Given the description of an element on the screen output the (x, y) to click on. 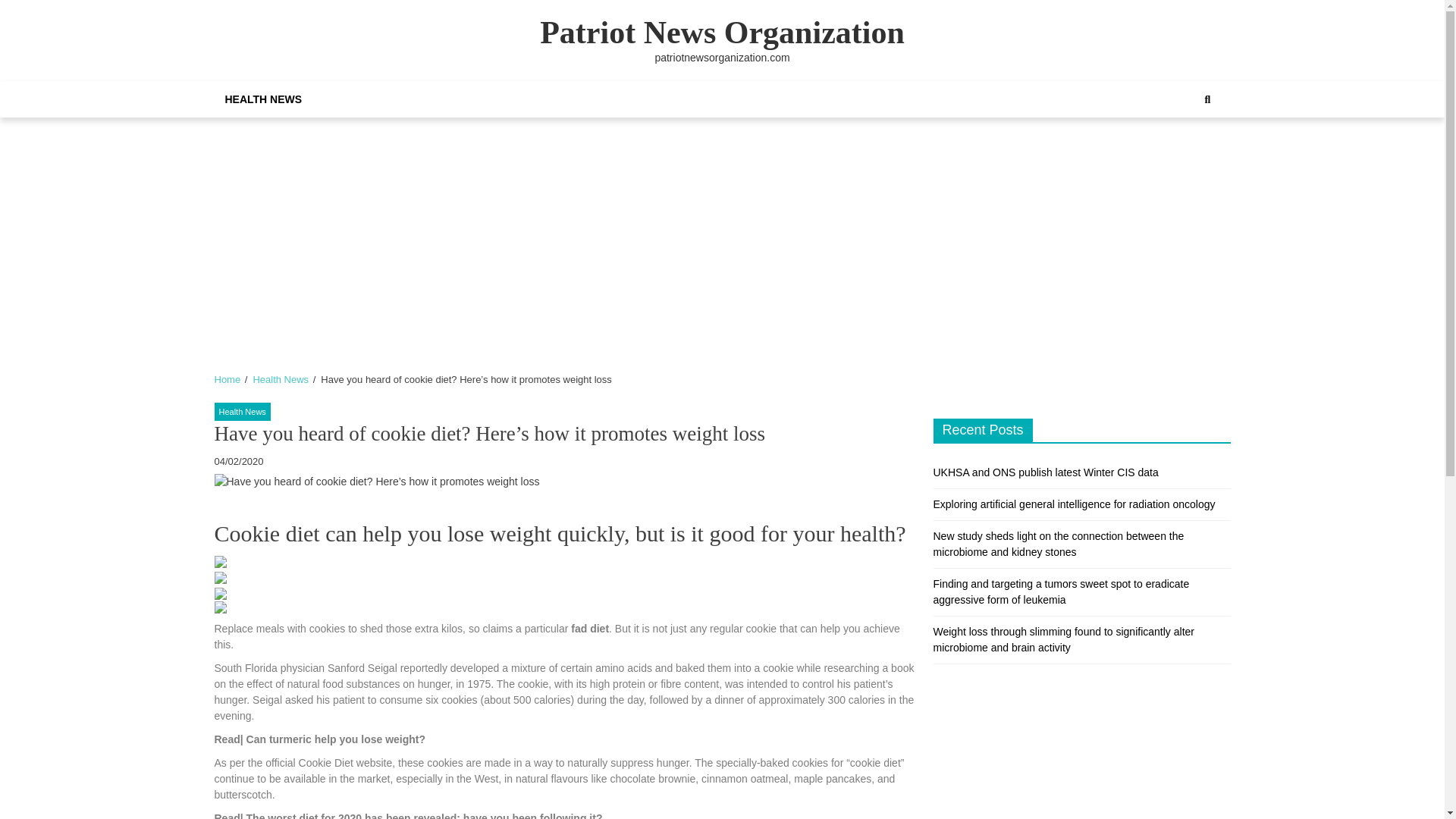
HEALTH NEWS (263, 99)
Patriot News Organization (722, 32)
UKHSA and ONS publish latest Winter CIS data (1045, 472)
Health News (279, 378)
Search (1191, 150)
Search (1207, 99)
